Given the description of an element on the screen output the (x, y) to click on. 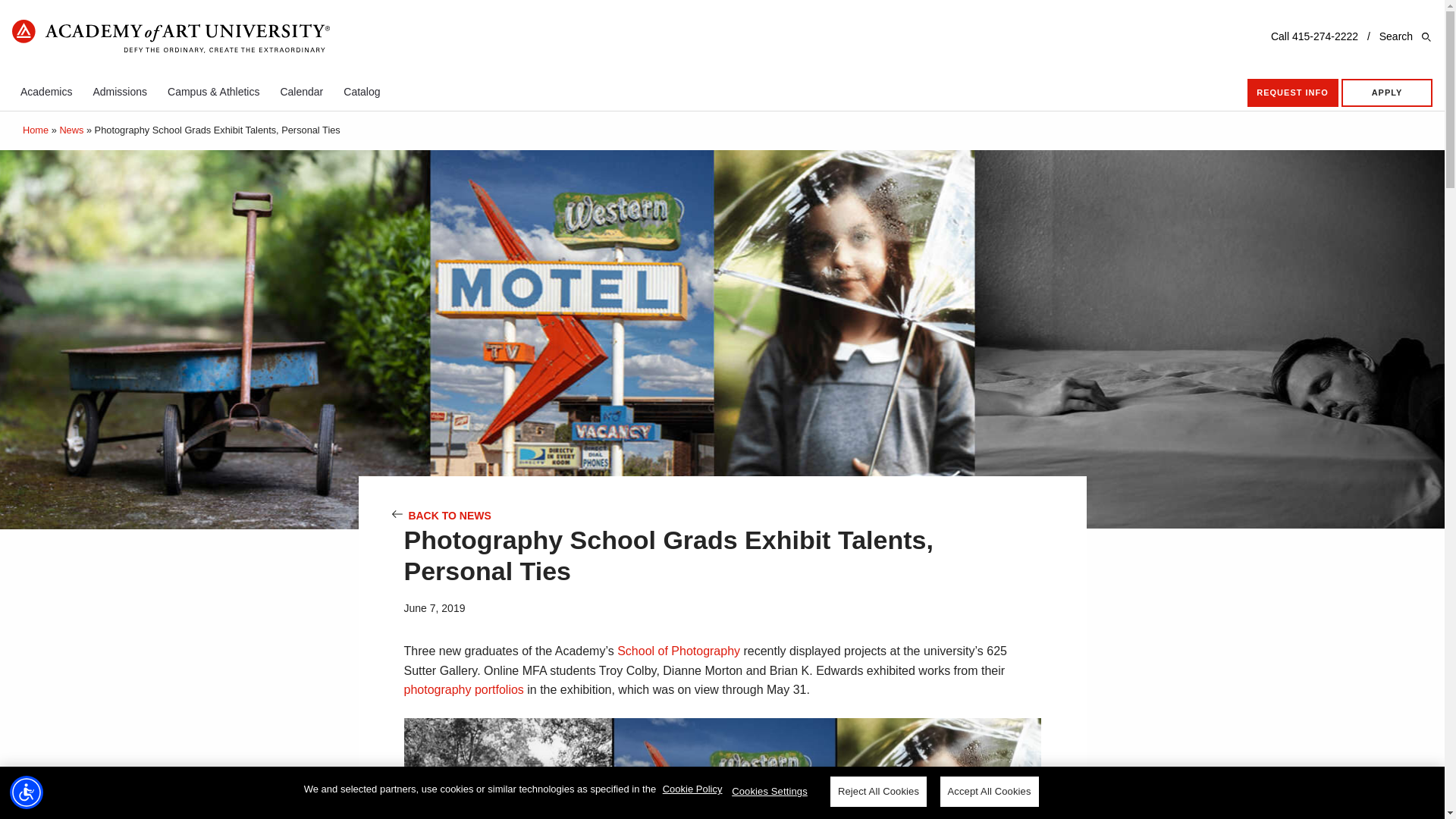
Academics (46, 91)
Academy of Art Univeristy Home Page (170, 38)
415-274-2222 (1325, 36)
Accessibility Menu (26, 792)
